Given the description of an element on the screen output the (x, y) to click on. 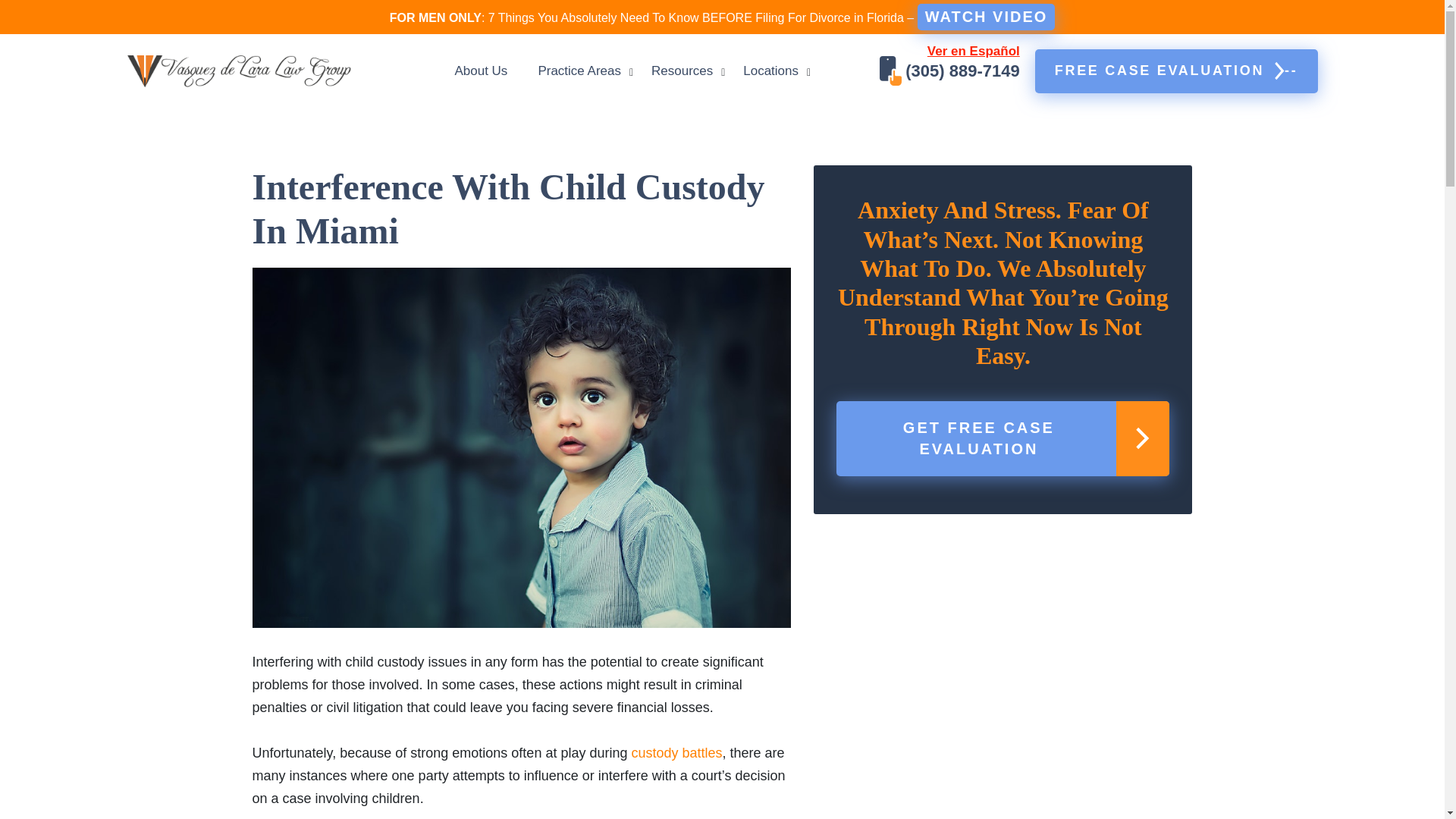
About Us (480, 70)
Practice Areas (579, 70)
custody battles (676, 752)
Resources (1176, 71)
WATCH VIDEO (682, 70)
Locations (986, 17)
